Given the description of an element on the screen output the (x, y) to click on. 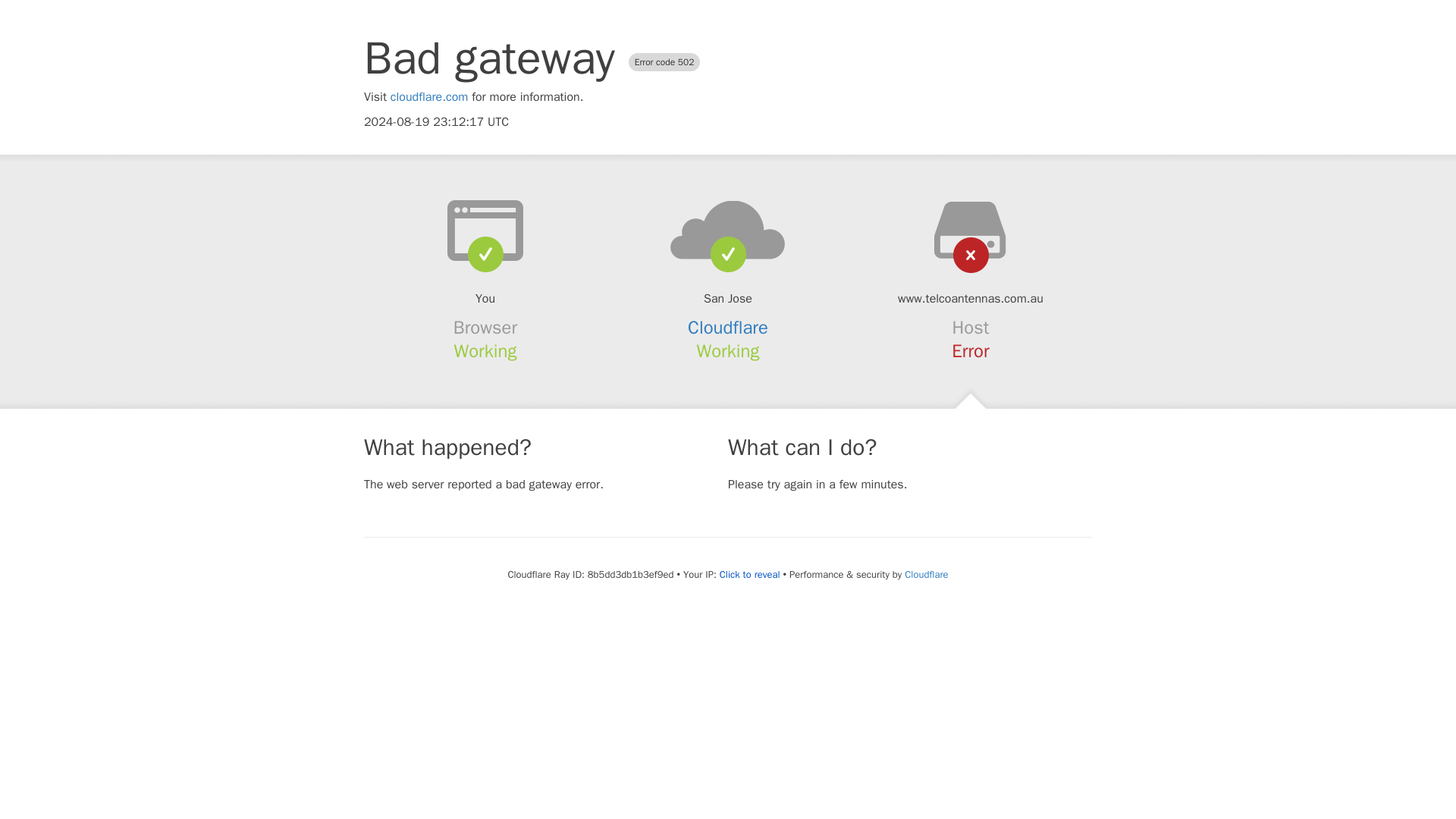
Click to reveal (749, 574)
cloudflare.com (429, 96)
Cloudflare (925, 574)
Cloudflare (727, 327)
